Given the description of an element on the screen output the (x, y) to click on. 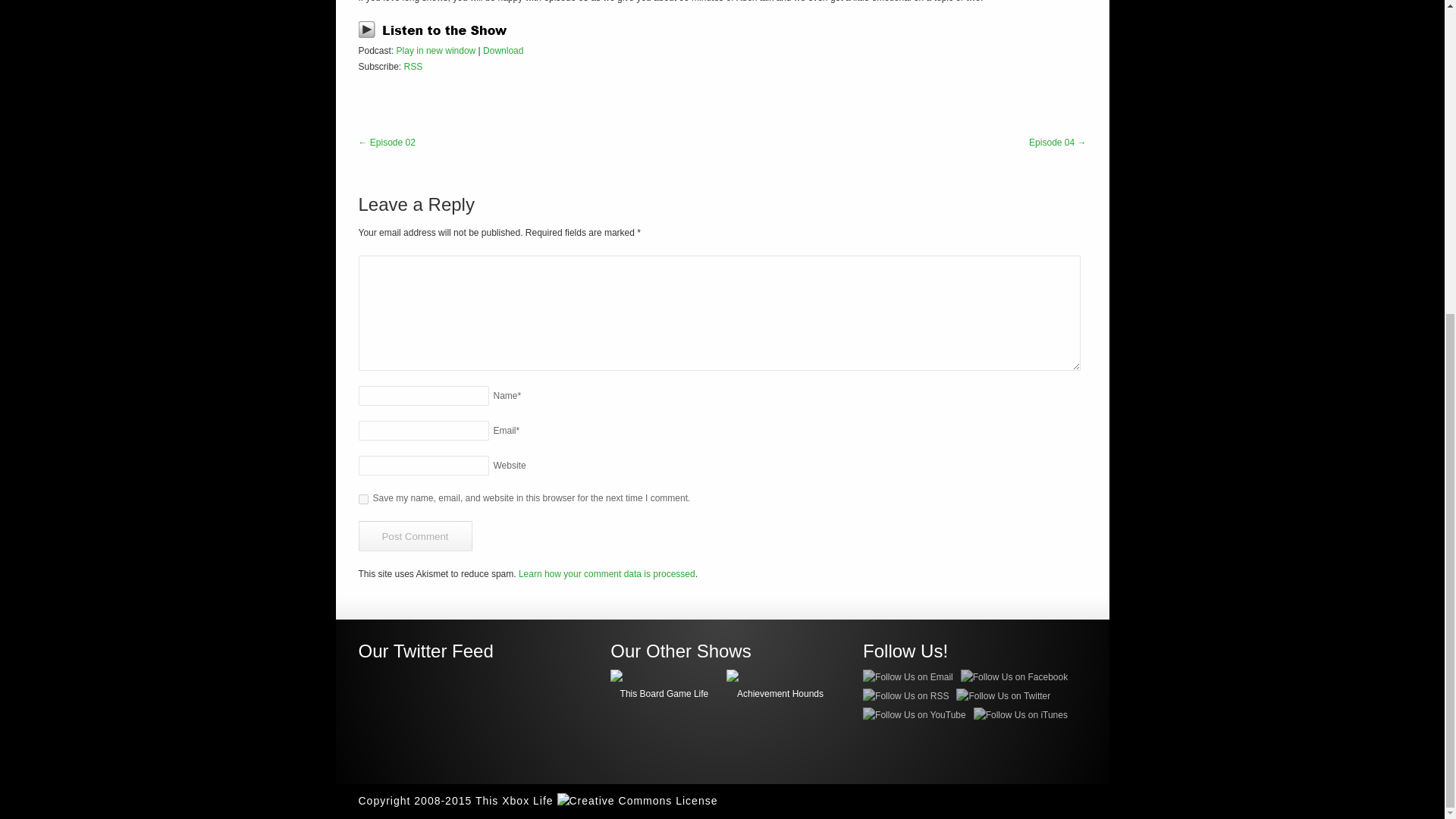
Play (436, 29)
This Board Game Life (663, 687)
Our Twitter Feed (425, 650)
Follow Us! (974, 651)
Post Comment (414, 535)
Download (502, 50)
Download (502, 50)
Post Comment (414, 535)
RSS (413, 66)
yes (363, 499)
